Given the description of an element on the screen output the (x, y) to click on. 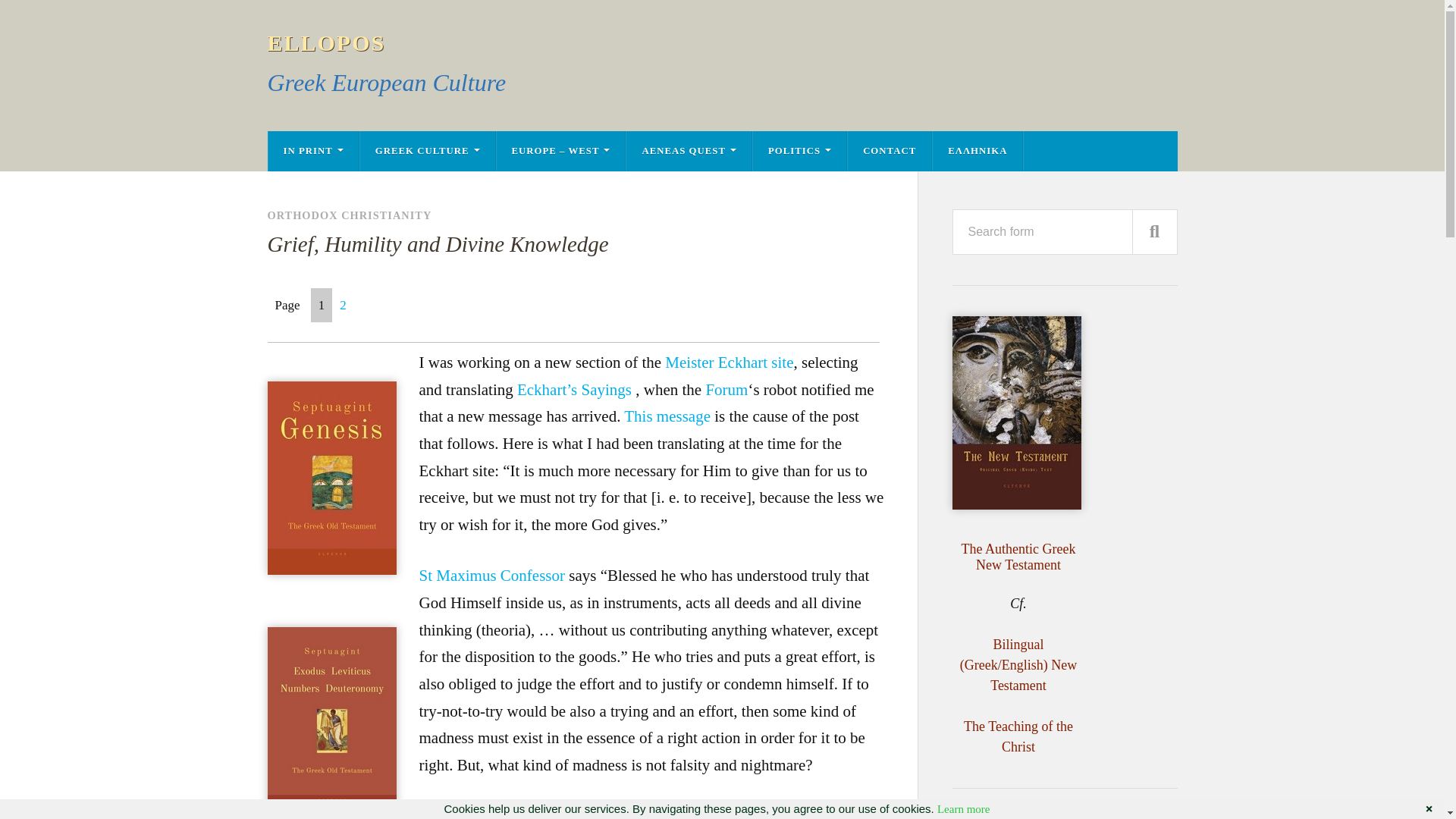
Grief, Humility and Divine Knowledge (575, 243)
GREEK CULTURE (427, 151)
ELLOPOS (325, 42)
AENEAS QUEST (688, 151)
IN PRINT (312, 151)
